Given the description of an element on the screen output the (x, y) to click on. 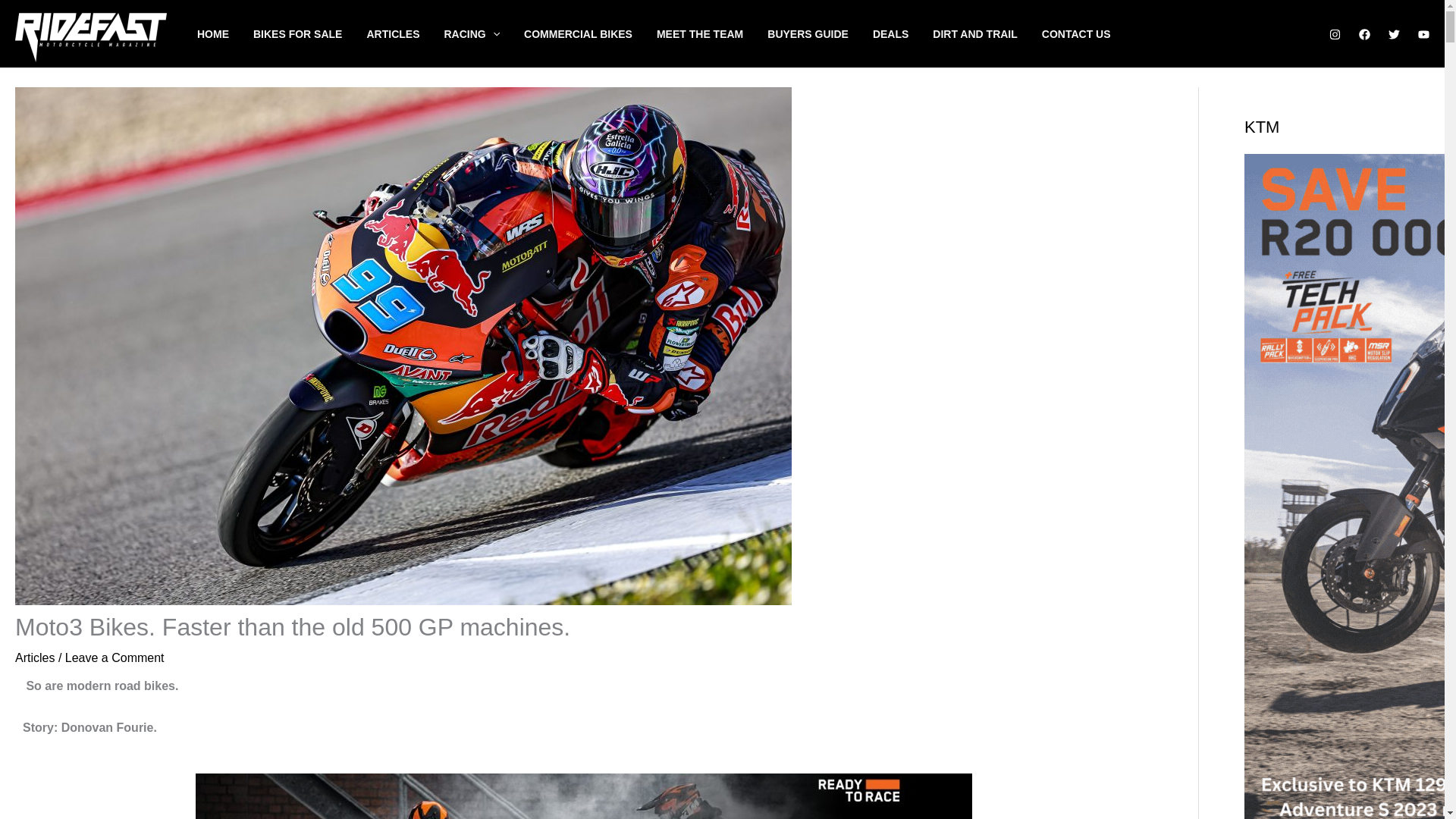
DIRT AND TRAIL (987, 33)
BIKES FOR SALE (309, 33)
DEALS (902, 33)
MEET THE TEAM (711, 33)
ARTICLES (405, 33)
COMMERCIAL BIKES (590, 33)
RACING (484, 33)
CONTACT US (1088, 33)
HOME (224, 33)
BUYERS GUIDE (819, 33)
